Given the description of an element on the screen output the (x, y) to click on. 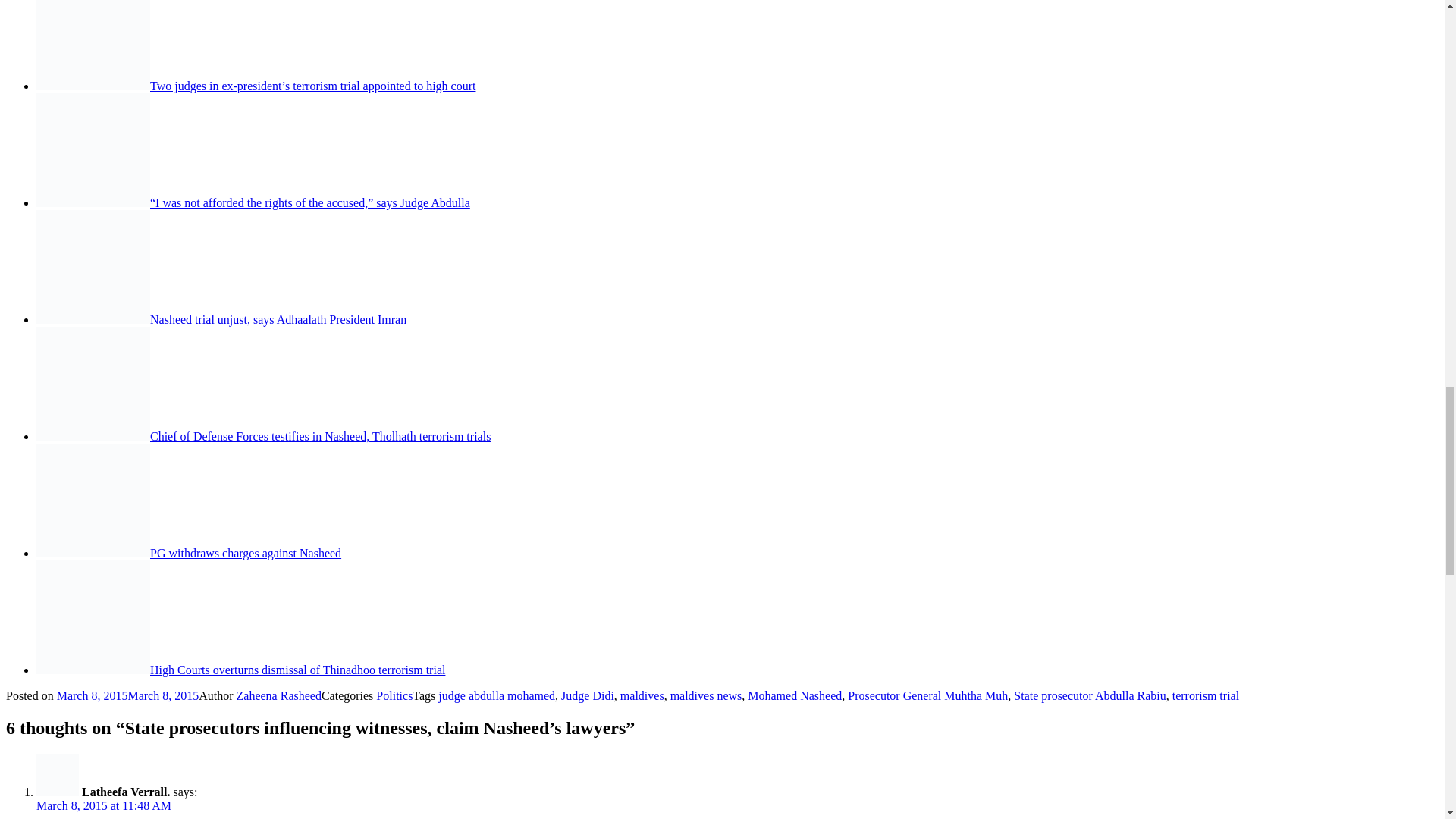
Nasheed trial unjust, says Adhaalath President Imran (277, 318)
Zaheena Rasheed (278, 695)
PG withdraws charges against Nasheed (244, 553)
March 8, 2015March 8, 2015 (127, 695)
High Courts overturns dismissal of Thinadhoo terrorism trial (297, 669)
